Given the description of an element on the screen output the (x, y) to click on. 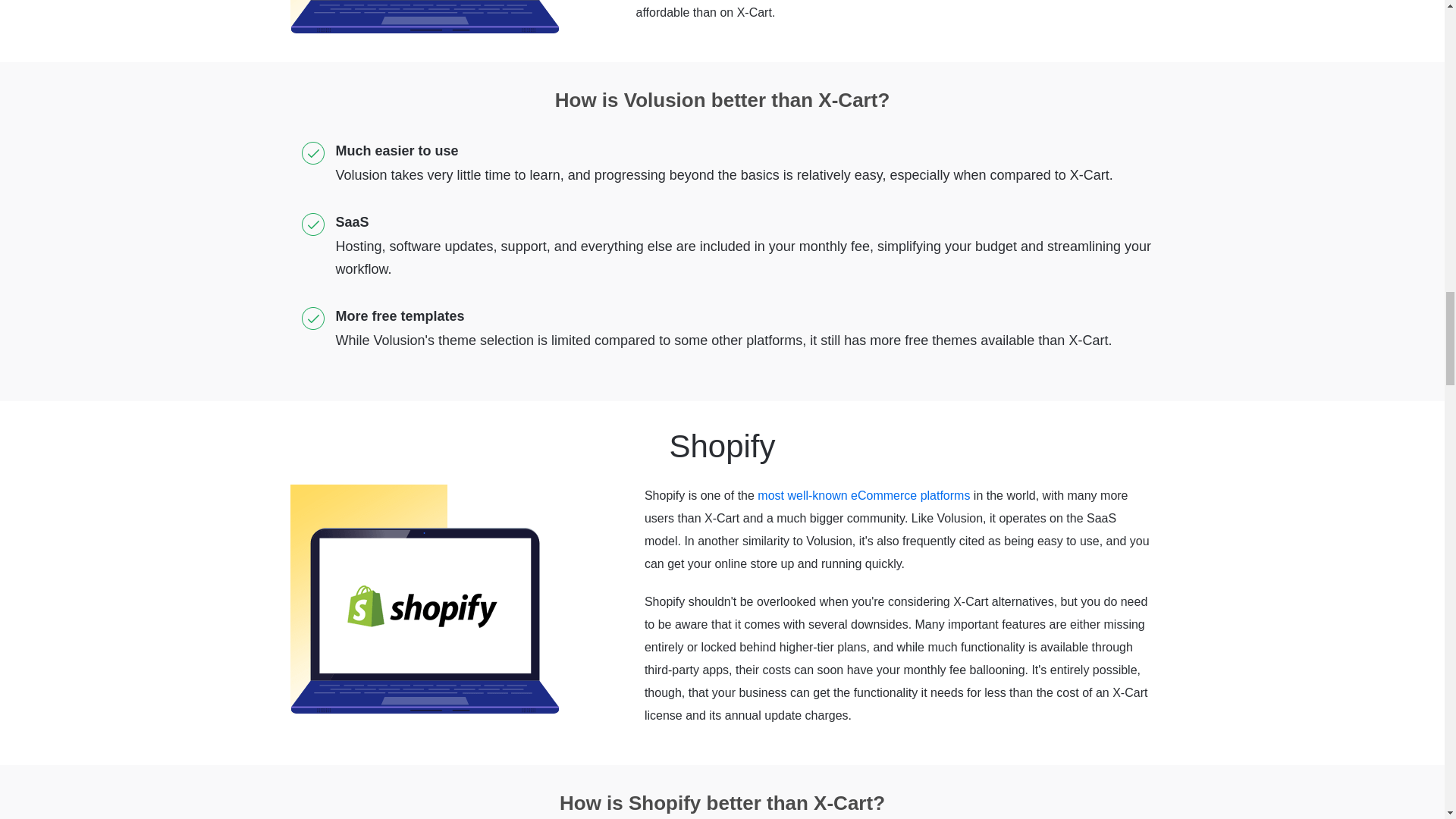
Volusion (423, 16)
Shopify (423, 598)
most well-known eCommerce platforms (863, 495)
